Given the description of an element on the screen output the (x, y) to click on. 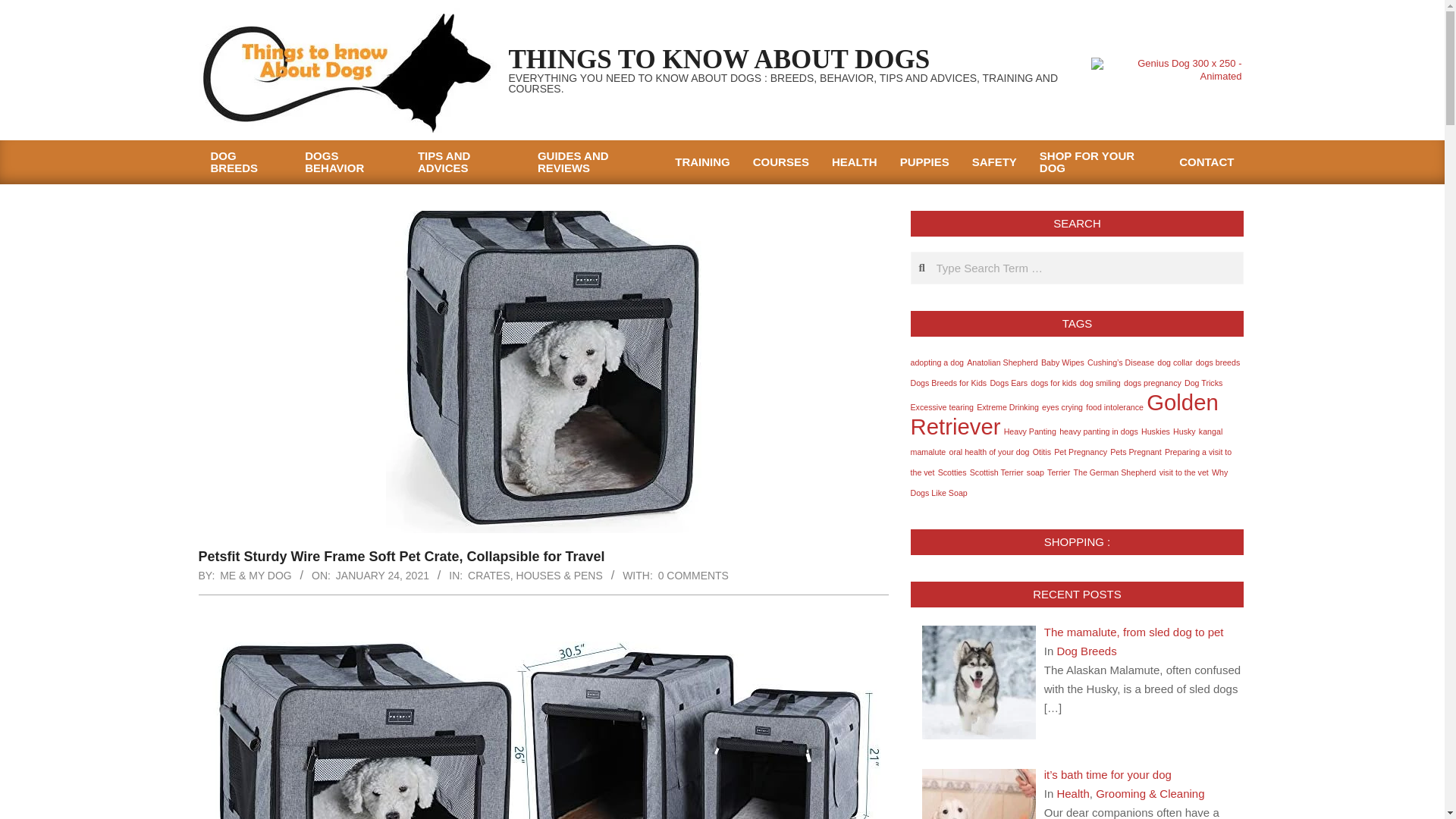
CONTACT (1205, 162)
DOGS BEHAVIOR (350, 162)
DOG BREEDS (246, 162)
TRAINING (702, 162)
SAFETY (993, 162)
COURSES (781, 162)
Sunday, January 24, 2021, 6:00 pm (382, 575)
SHOP FOR YOUR DOG (1097, 162)
GUIDES AND REVIEWS (594, 162)
THINGS TO KNOW ABOUT DOGS (719, 59)
0 COMMENTS (693, 575)
PUPPIES (924, 162)
